Given the description of an element on the screen output the (x, y) to click on. 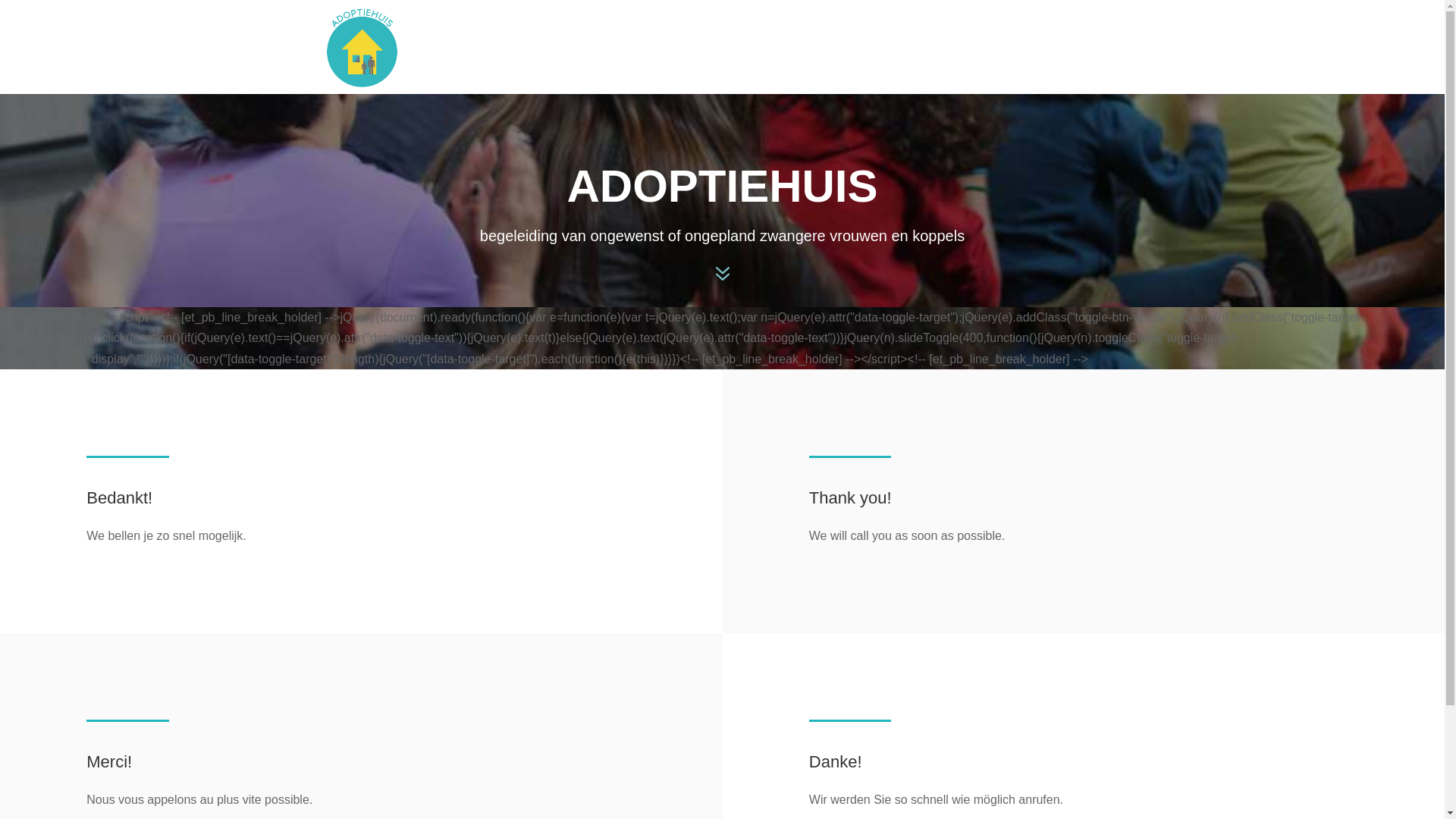
7 Element type: text (722, 274)
